Given the description of an element on the screen output the (x, y) to click on. 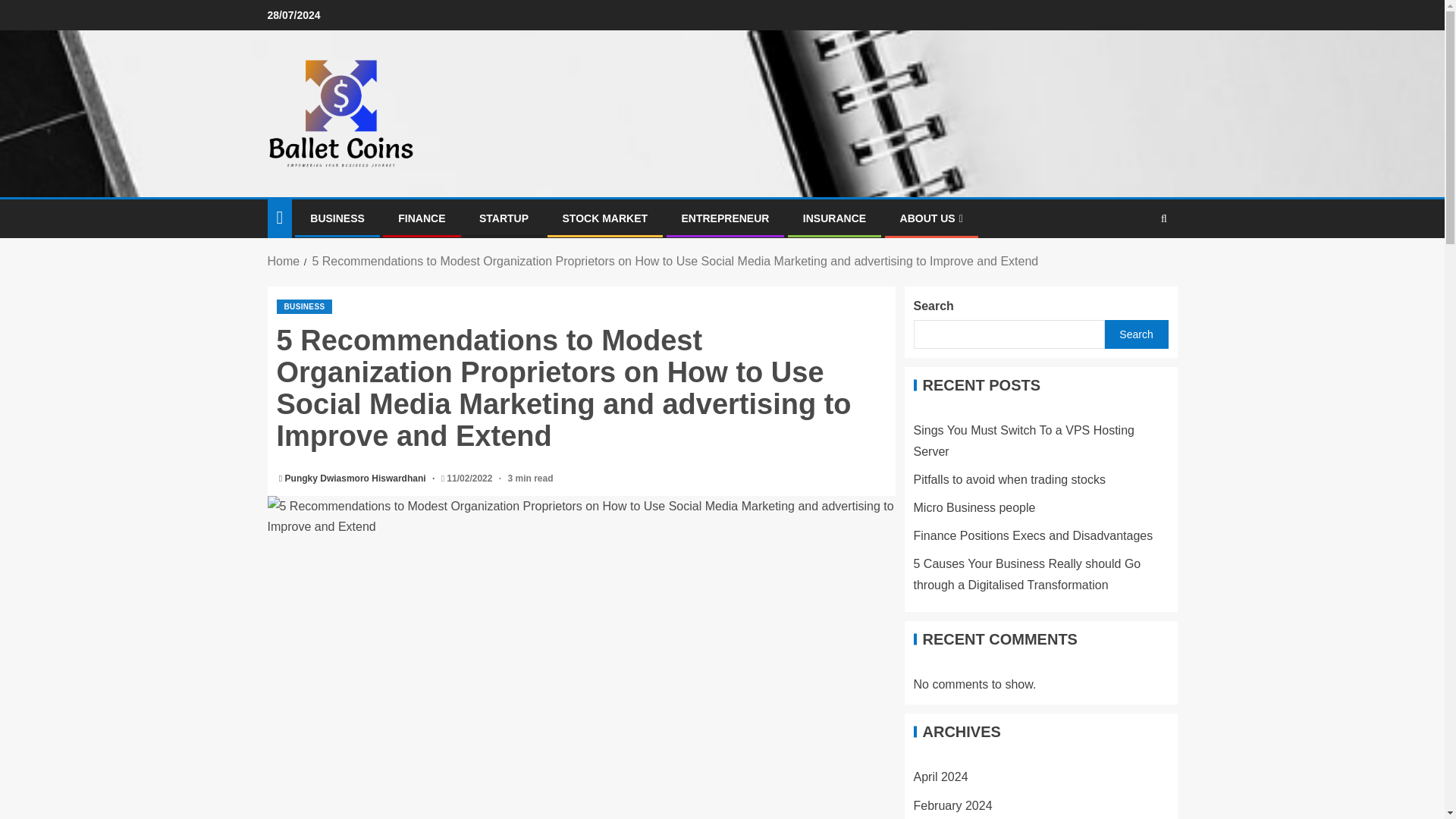
ENTREPRENEUR (724, 218)
Search (1133, 265)
Home (282, 260)
BUSINESS (303, 306)
INSURANCE (834, 218)
BUSINESS (337, 218)
STOCK MARKET (604, 218)
FINANCE (421, 218)
STARTUP (503, 218)
ABOUT US (930, 218)
Search (1135, 334)
Pungky Dwiasmoro Hiswardhani (356, 478)
Sings You Must Switch To a VPS Hosting Server (1023, 440)
